Given the description of an element on the screen output the (x, y) to click on. 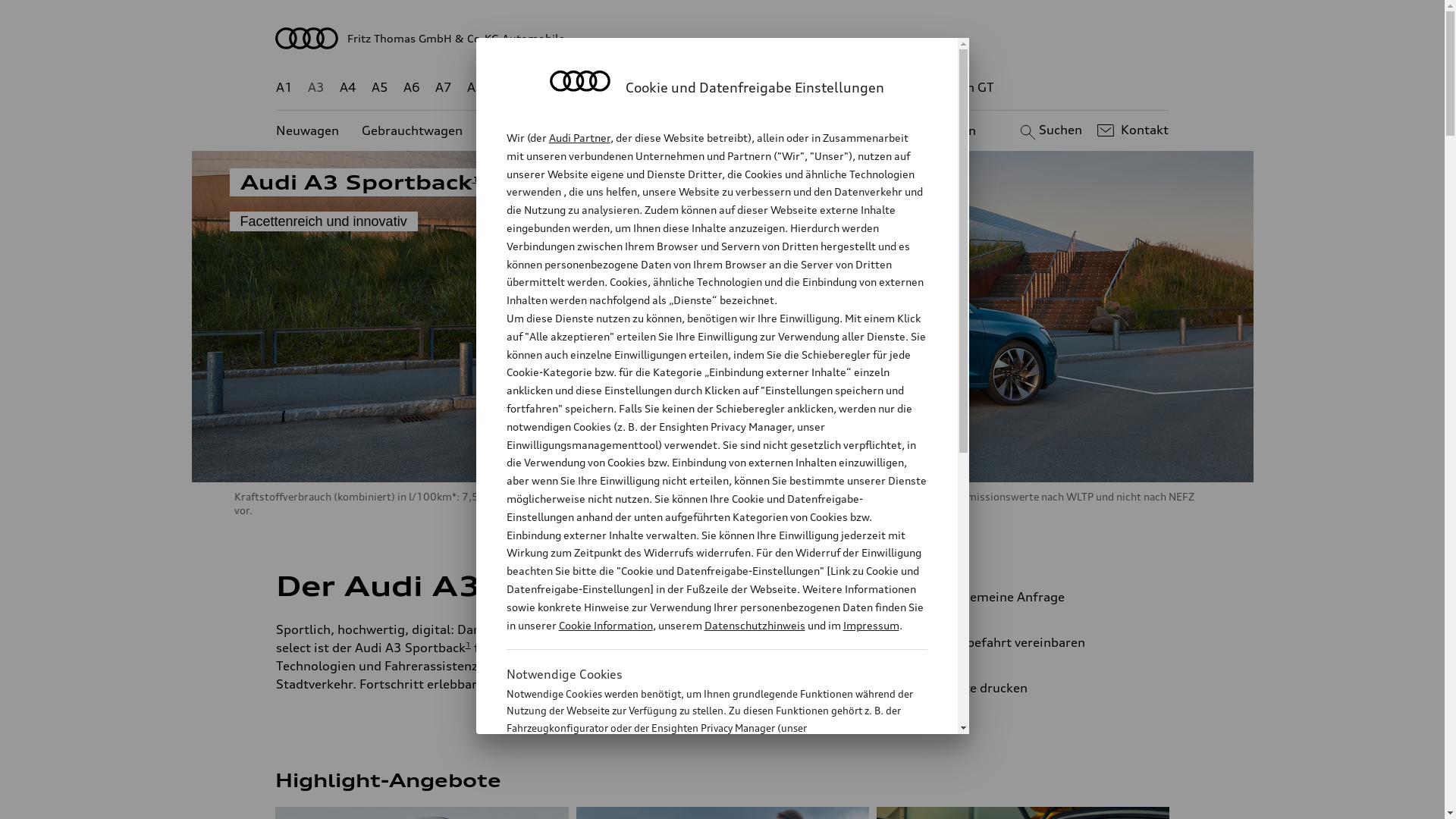
e-tron GT Element type: text (965, 87)
RS Element type: text (861, 87)
1 Element type: text (666, 582)
A4 Element type: text (347, 87)
Kundenservice Element type: text (730, 130)
Audi Partner Element type: text (579, 137)
Fritz Thomas GmbH & Co.KG Automobile Element type: text (722, 38)
Q7 Element type: text (678, 87)
A7 Element type: text (443, 87)
Q8 Element type: text (710, 87)
Allgemeine Anfrage Element type: text (1038, 596)
Cookie Information Element type: text (605, 624)
A3 Element type: text (315, 87)
Probefahrt vereinbaren Element type: text (1038, 642)
A6 Element type: text (411, 87)
Datenschutzhinweis Element type: text (753, 624)
Q3 Element type: text (540, 87)
Impressum Element type: text (871, 624)
Neuwagen Element type: text (307, 130)
1 Element type: text (474, 178)
Q5 Element type: text (645, 87)
TT Element type: text (814, 87)
Seite drucken Element type: text (1044, 687)
Suchen Element type: text (1049, 130)
1 Element type: text (467, 644)
A5 Element type: text (379, 87)
Kontakt Element type: text (1130, 130)
g-tron Element type: text (903, 87)
Q8 e-tron Element type: text (763, 87)
A8 Element type: text (475, 87)
Q4 e-tron Element type: text (592, 87)
Angebote Element type: text (636, 130)
A1 Element type: text (284, 87)
Cookie Information Element type: text (700, 802)
Q2 Element type: text (507, 87)
Gebrauchtwagen Element type: text (411, 130)
